Given the description of an element on the screen output the (x, y) to click on. 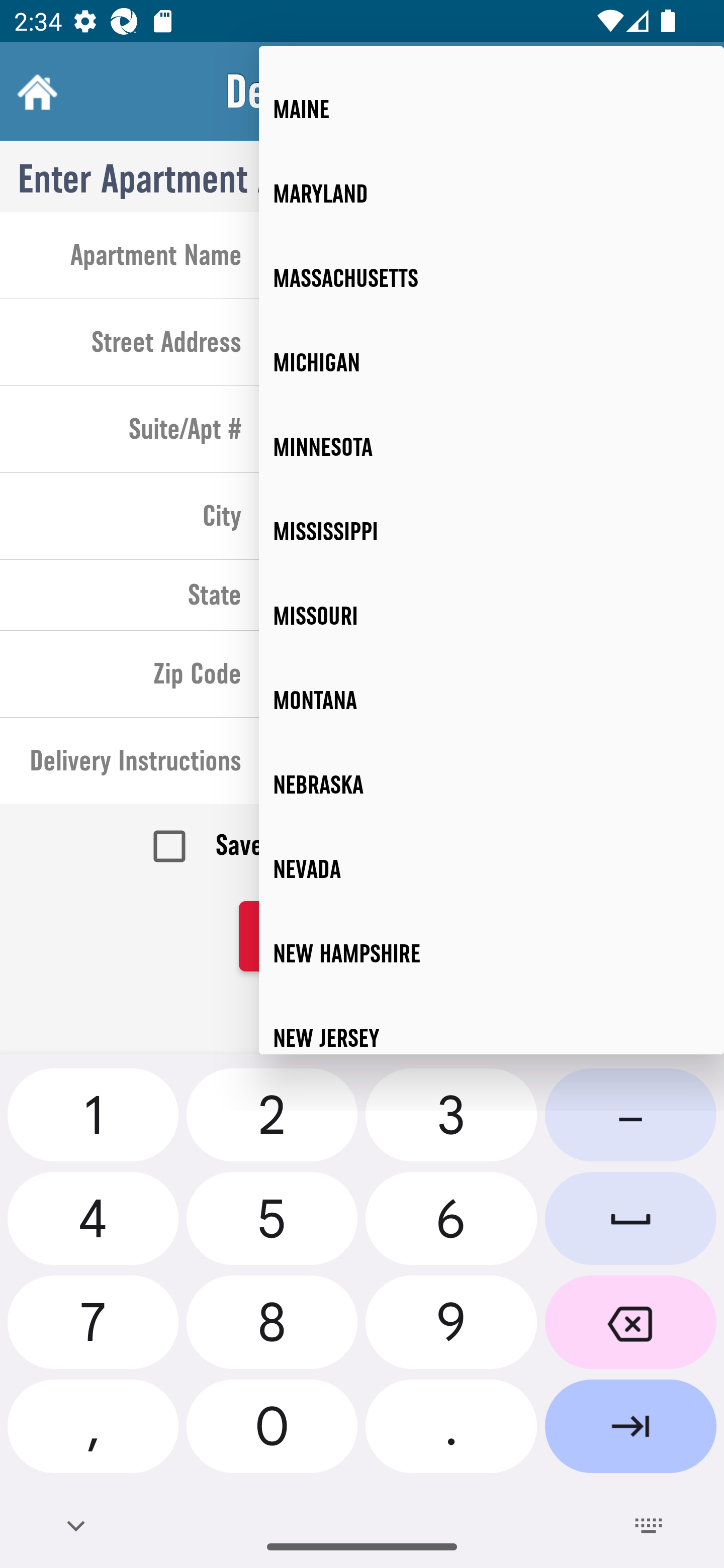
MAINE (491, 109)
MARYLAND (491, 194)
MASSACHUSETTS (491, 277)
MICHIGAN (491, 361)
MINNESOTA (491, 446)
MISSISSIPPI (491, 531)
MISSOURI (491, 615)
MONTANA (491, 700)
NEBRASKA (491, 785)
NEVADA (491, 869)
NEW HAMPSHIRE (491, 953)
NEW JERSEY (491, 1024)
